Given the description of an element on the screen output the (x, y) to click on. 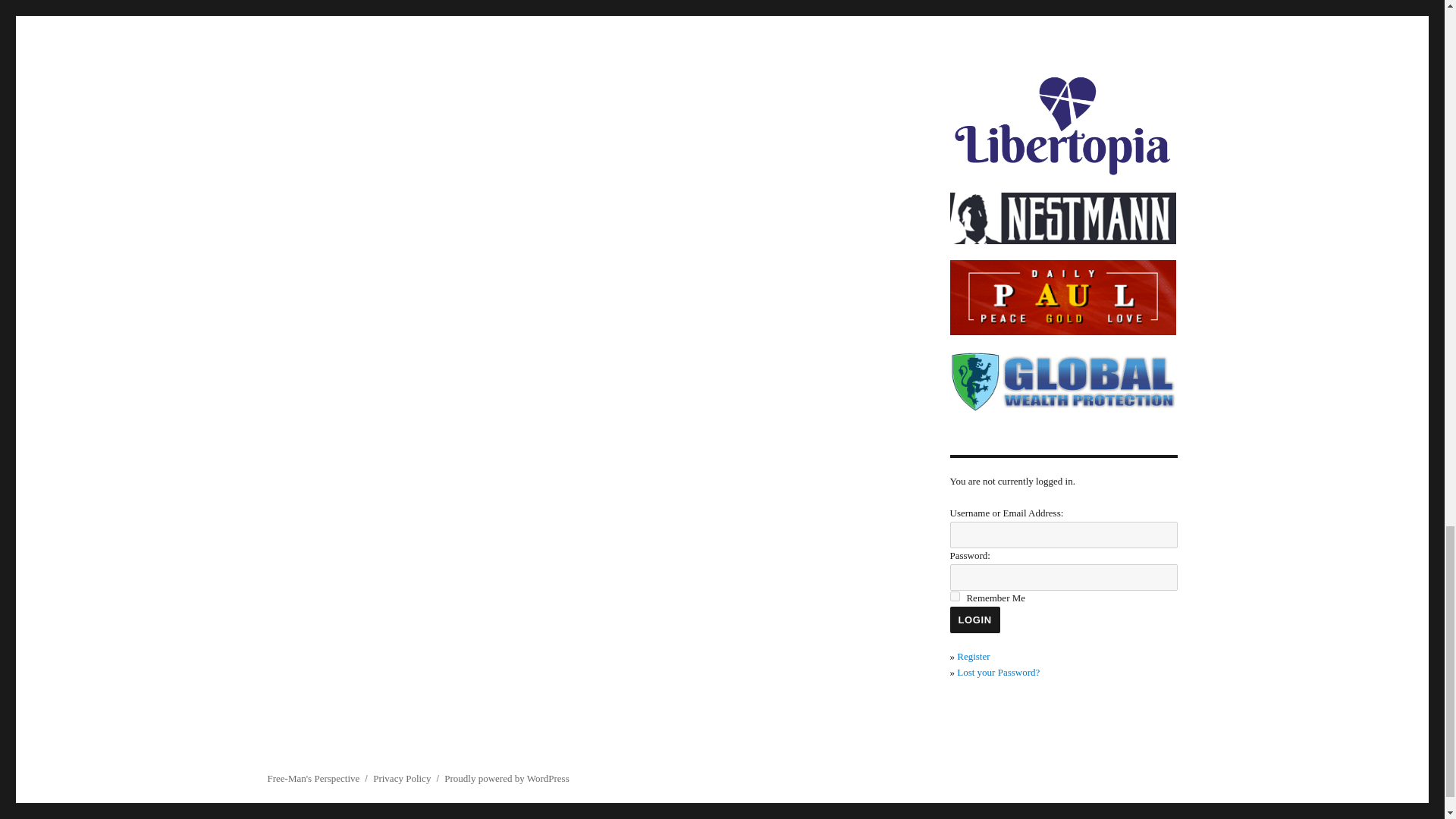
libertopia (1061, 124)
Login (973, 619)
Privacy Policy (401, 778)
Register (973, 655)
forever (954, 596)
Free-Man's Perspective (312, 778)
Freedom Fest (1061, 28)
Global Wealth Protection (1061, 381)
Proudly powered by WordPress (506, 778)
Daily Paul (1061, 297)
Login (973, 619)
Lost your Password? (997, 672)
NestMann (1061, 218)
